Given the description of an element on the screen output the (x, y) to click on. 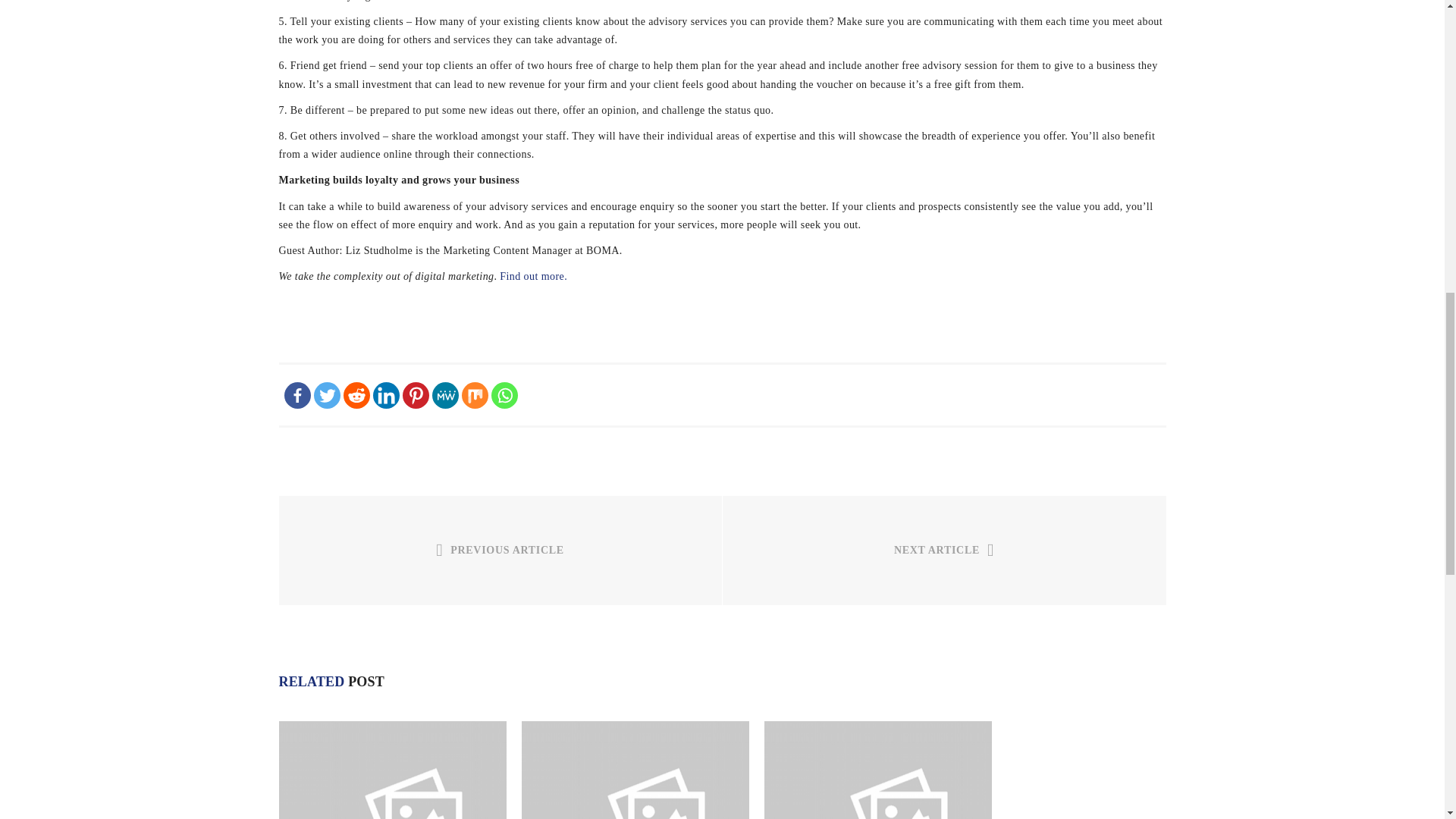
MeWe (445, 395)
Find out more. (533, 276)
Whatsapp (505, 395)
Reddit (355, 395)
Facebook (296, 395)
Mix (474, 395)
Linkedin (385, 395)
Twitter (327, 395)
Pinterest (414, 395)
